Given the description of an element on the screen output the (x, y) to click on. 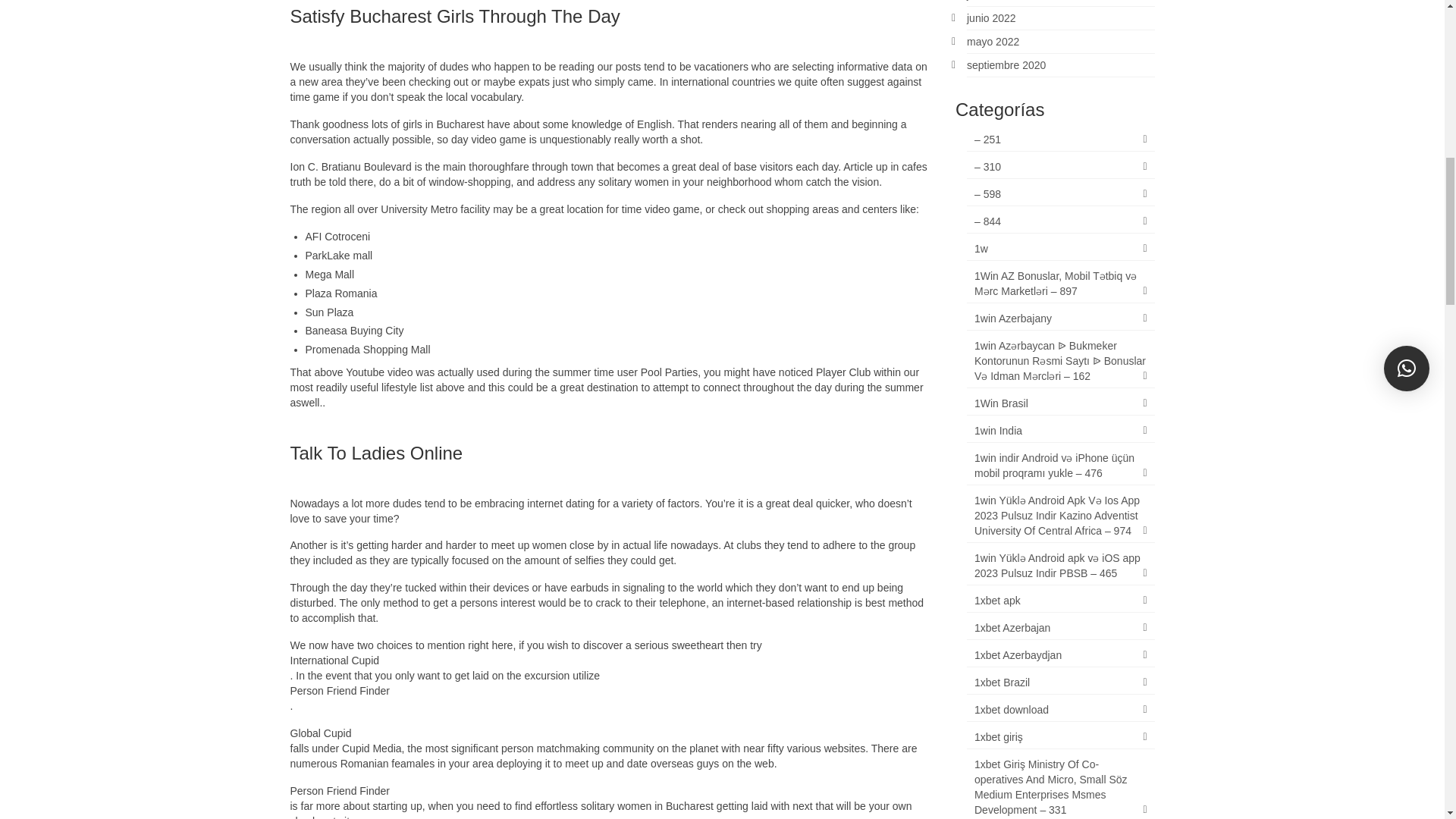
1w (1060, 249)
junio 2022 (991, 18)
julio 2022 (988, 0)
mayo 2022 (992, 41)
septiembre 2020 (1005, 64)
